Given the description of an element on the screen output the (x, y) to click on. 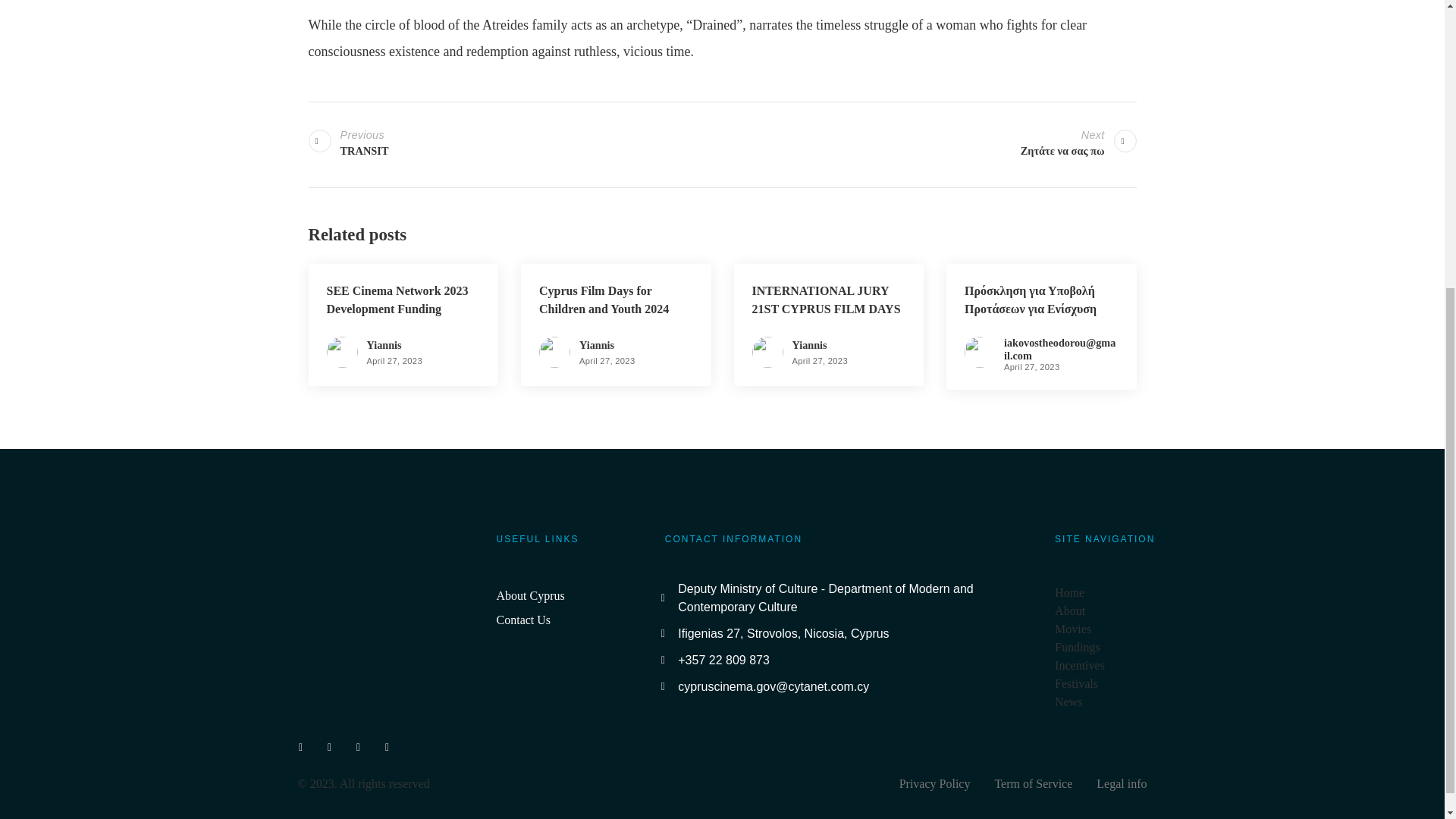
USEFUL LINKS (572, 548)
Posts by Yiannis (383, 345)
Posts by Yiannis (809, 345)
Posts by Yiannis (938, 783)
CONTACT INFORMATION (596, 345)
SITE NAVIGATION (572, 607)
